Given the description of an element on the screen output the (x, y) to click on. 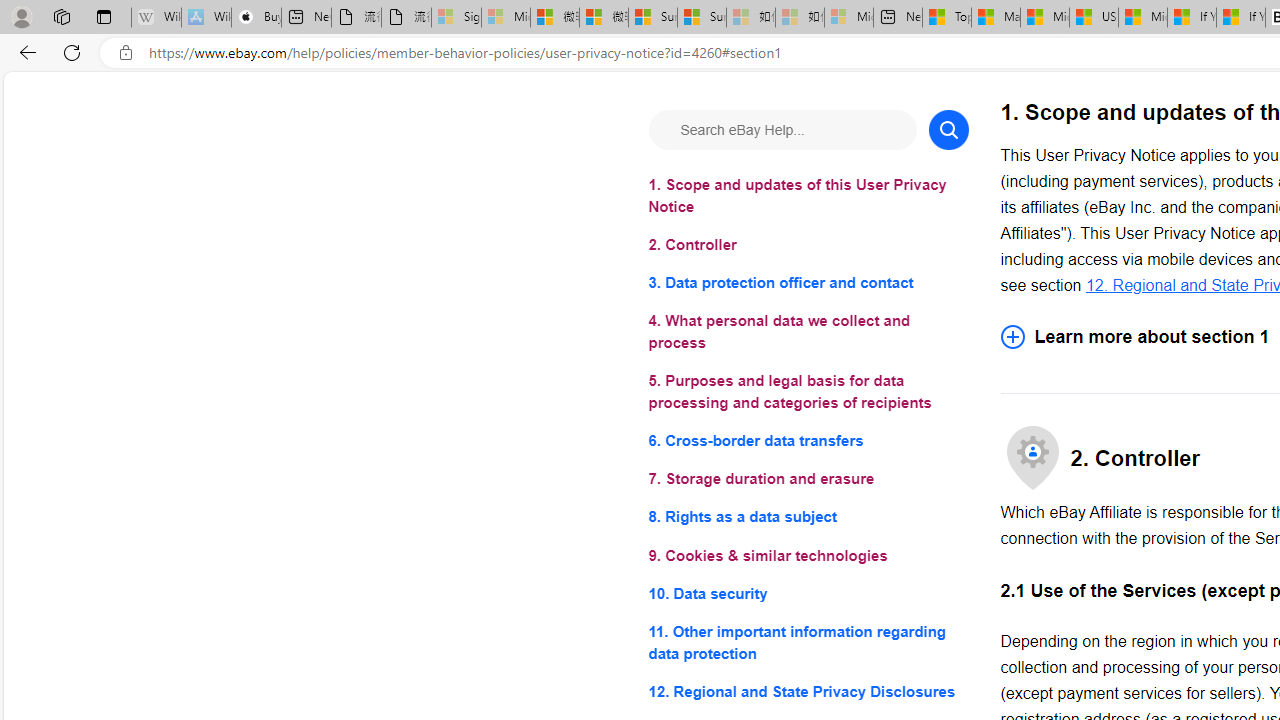
12. Regional and State Privacy Disclosures (807, 690)
10. Data security (807, 592)
8. Rights as a data subject (807, 517)
4. What personal data we collect and process (807, 332)
3. Data protection officer and contact (807, 283)
US Heat Deaths Soared To Record High Last Year (1093, 17)
1. Scope and updates of this User Privacy Notice (807, 196)
10. Data security (807, 592)
Search eBay Help... (781, 129)
